Given the description of an element on the screen output the (x, y) to click on. 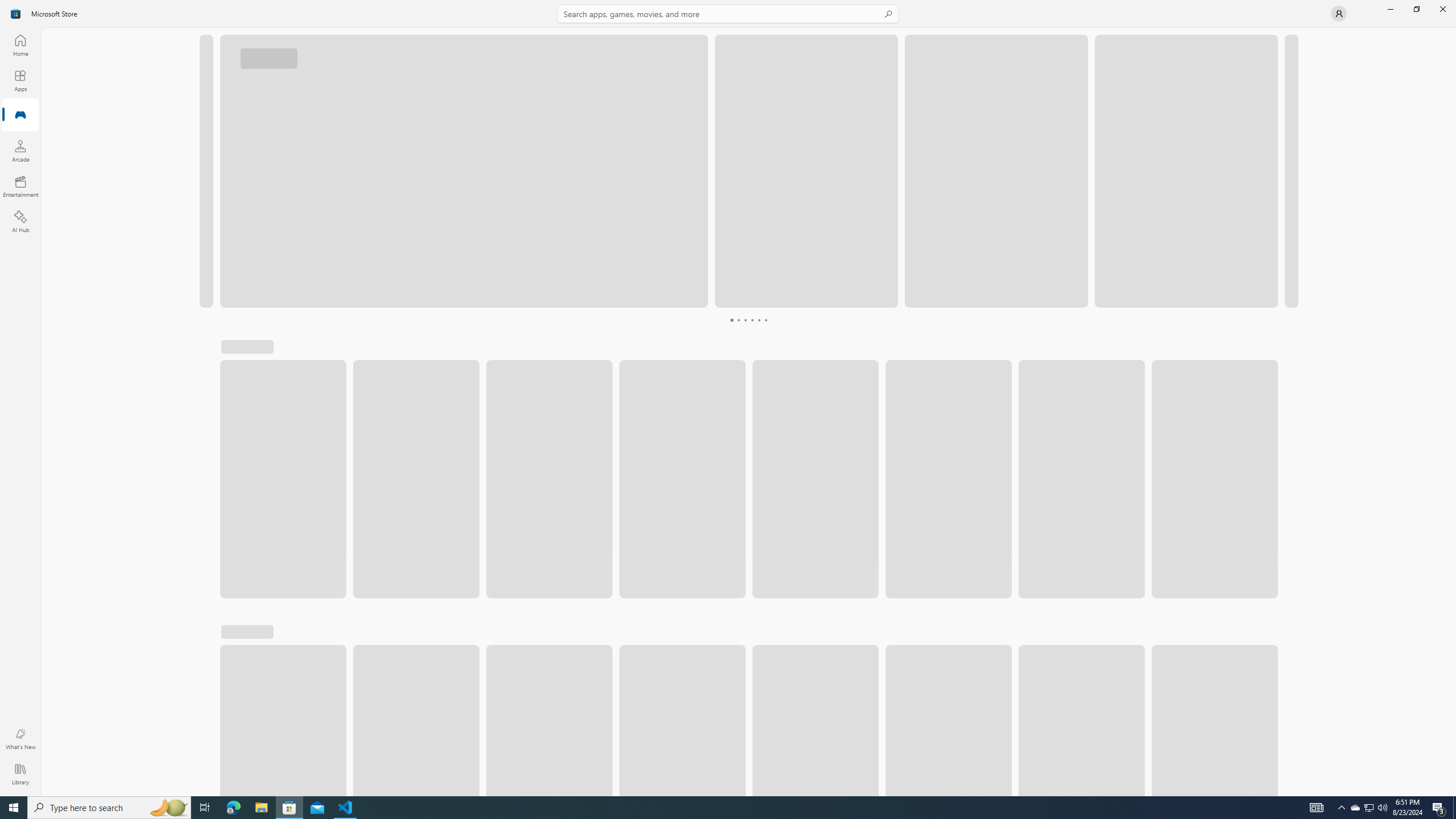
Class: Image (1274, 351)
Action & Adventure (273, 352)
Page 8 (764, 319)
Page 5 (744, 319)
Free Games (509, 352)
Game Pass (588, 352)
What's New (20, 738)
Arcade (20, 150)
Library (20, 773)
